Given the description of an element on the screen output the (x, y) to click on. 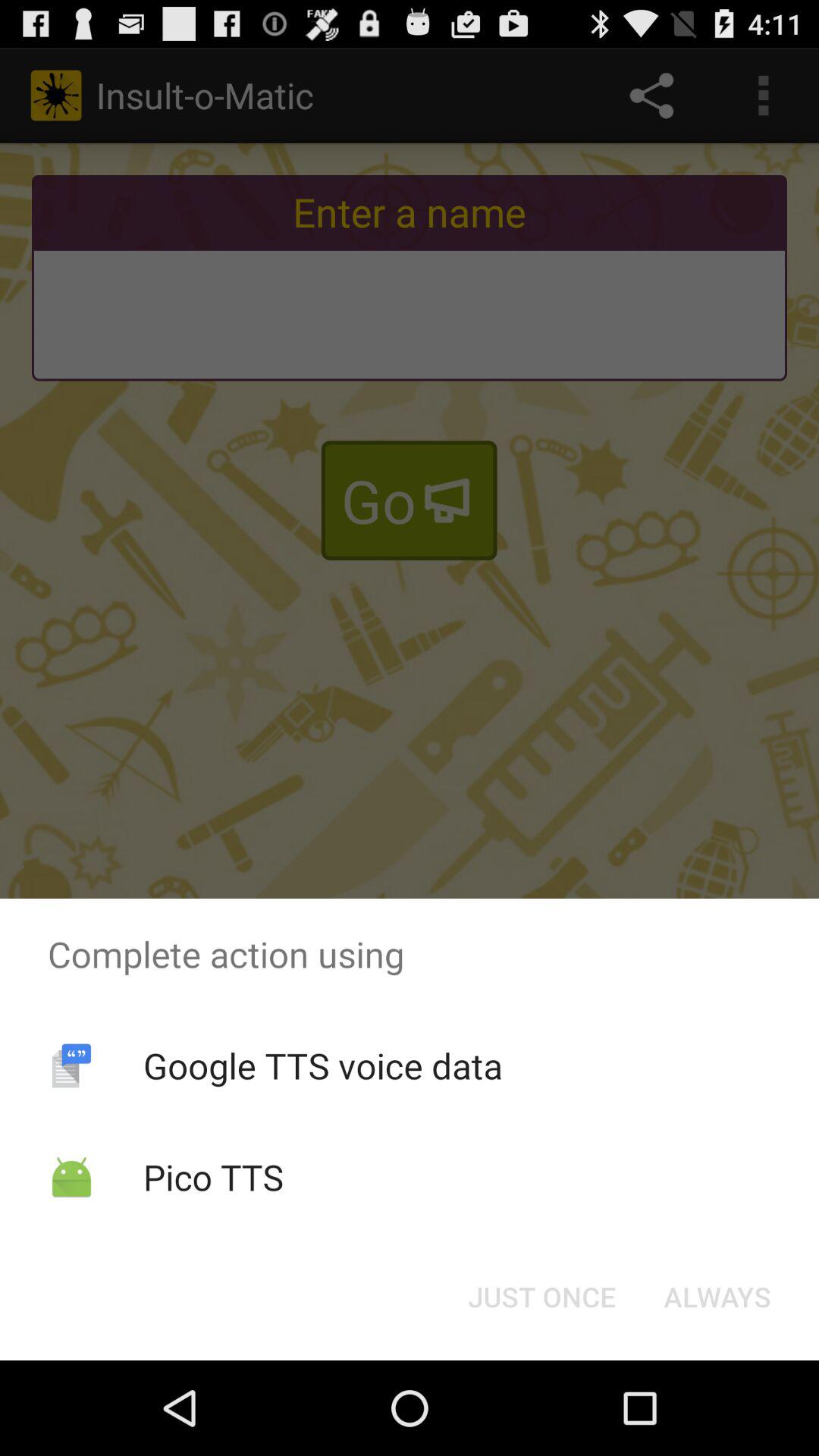
turn off app below the google tts voice item (213, 1176)
